Given the description of an element on the screen output the (x, y) to click on. 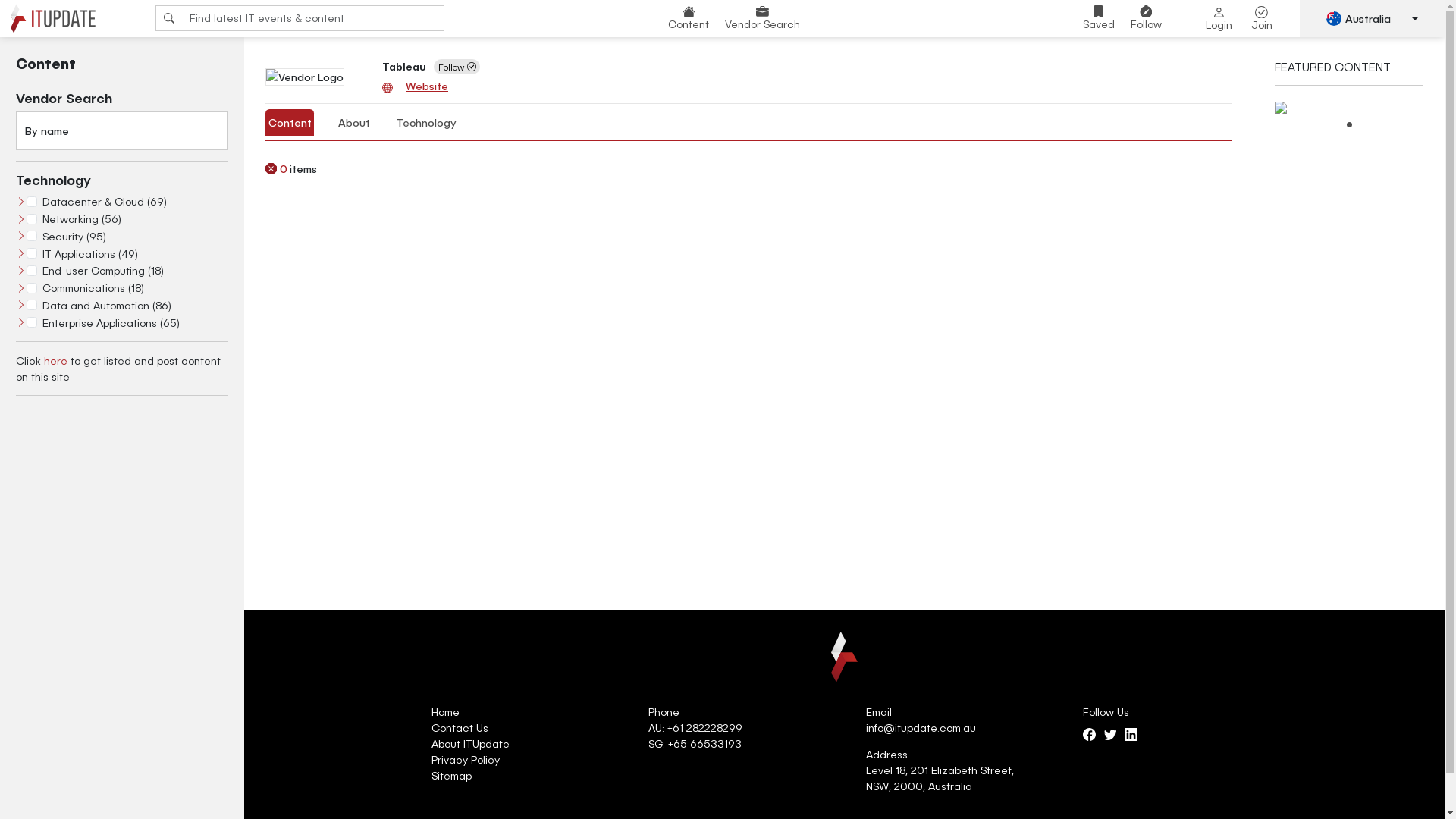
About Element type: text (353, 122)
Home Element type: text (445, 711)
Vendor Search Element type: text (762, 18)
Sitemap Element type: text (451, 774)
+61 282228299 Element type: text (704, 727)
info@itupdate.com.au Element type: text (920, 727)
Login Element type: text (1218, 18)
About ITUpdate Element type: text (470, 743)
Australia Element type: text (1372, 18)
Join Element type: text (1261, 18)
+65 66533193 Element type: text (704, 743)
Follow Element type: text (1145, 18)
Content Element type: text (688, 18)
here Element type: text (55, 360)
Follow Element type: text (456, 66)
Content Element type: text (289, 122)
Privacy Policy Element type: text (465, 759)
Technology Element type: text (425, 122)
Contact Us Element type: text (459, 727)
Saved Element type: text (1098, 18)
Website Element type: text (423, 85)
